Given the description of an element on the screen output the (x, y) to click on. 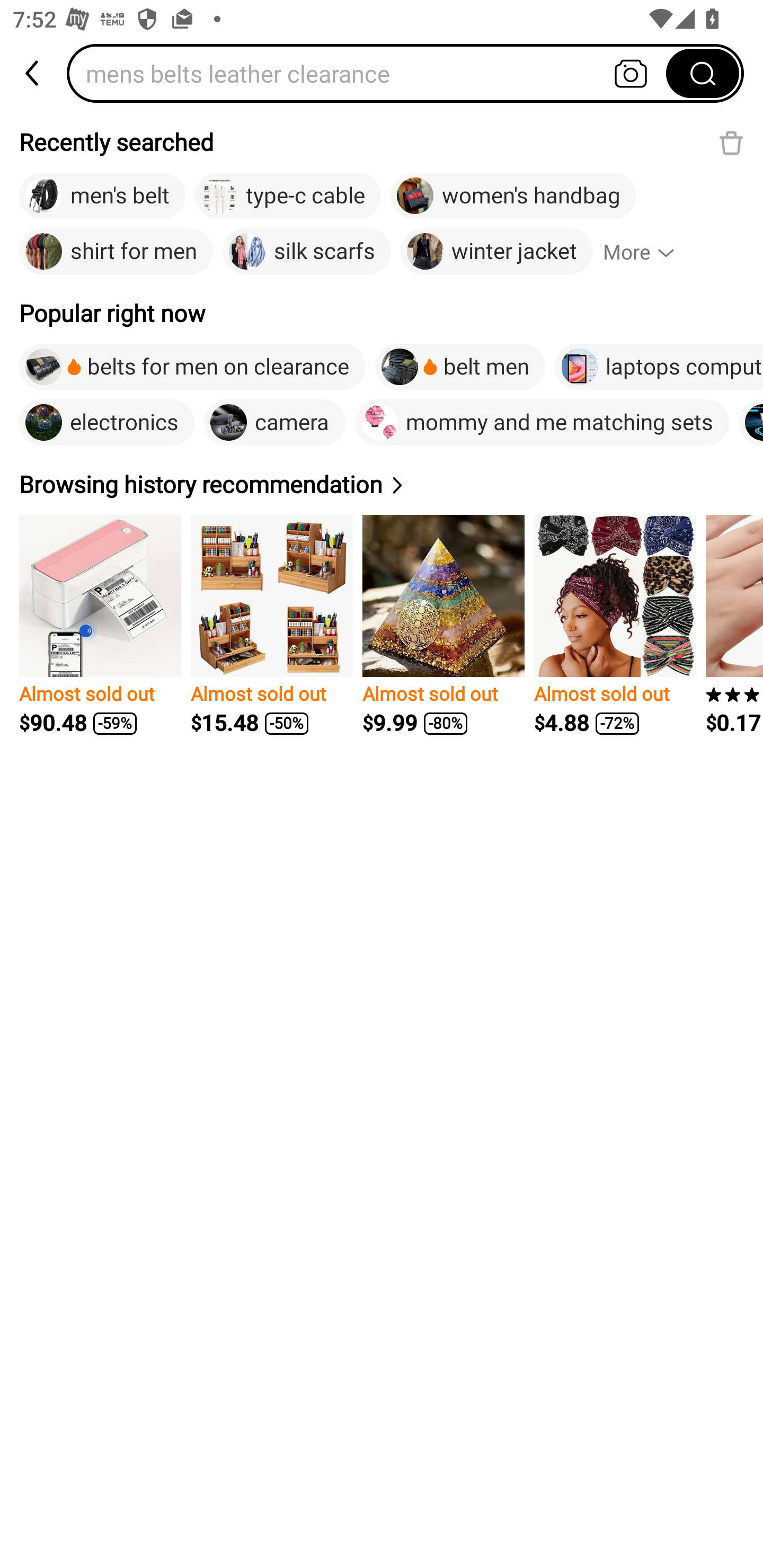
back (33, 72)
mens belts leather clearance (372, 73)
Search by photo (630, 73)
Delete recent search (731, 142)
men's belt (102, 195)
type-c cable (287, 195)
women's handbag (513, 195)
shirt for men (115, 251)
silk scarfs (306, 251)
winter jacket (496, 251)
More (646, 251)
belts for men on clearance (192, 366)
belt men (460, 366)
laptops computers (658, 366)
electronics (106, 422)
camera (274, 422)
mommy and me matching sets (541, 422)
Browsing history recommendation (213, 484)
Almost sold out $90.48 -59% (100, 625)
Almost sold out $15.48 -50% (271, 625)
Almost sold out $9.99 -80% (443, 625)
Almost sold out $4.88 -72% (614, 625)
